Given the description of an element on the screen output the (x, y) to click on. 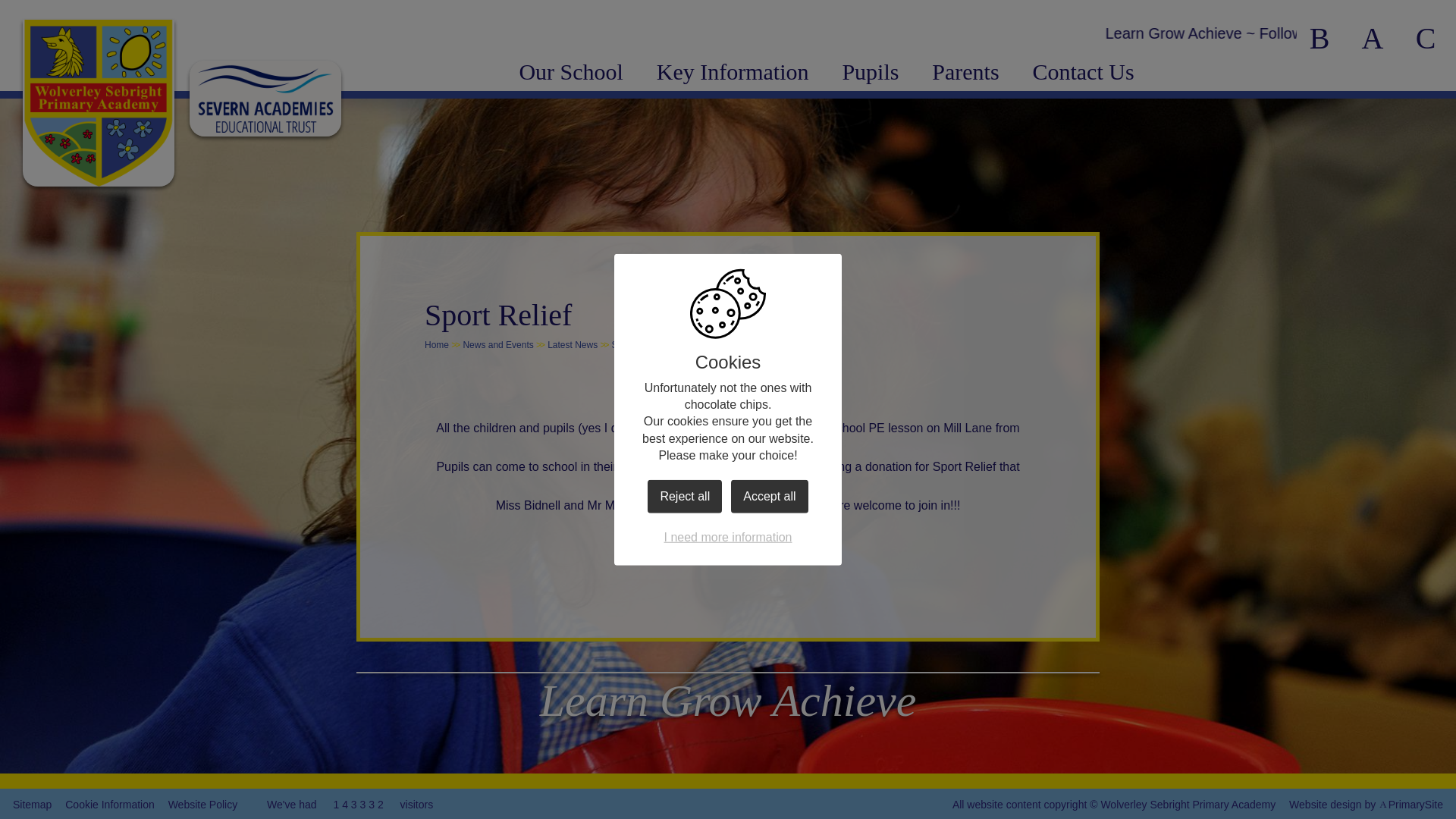
Our School (570, 71)
Key Information (732, 71)
Home Page (98, 103)
Home Page (98, 103)
